Given the description of an element on the screen output the (x, y) to click on. 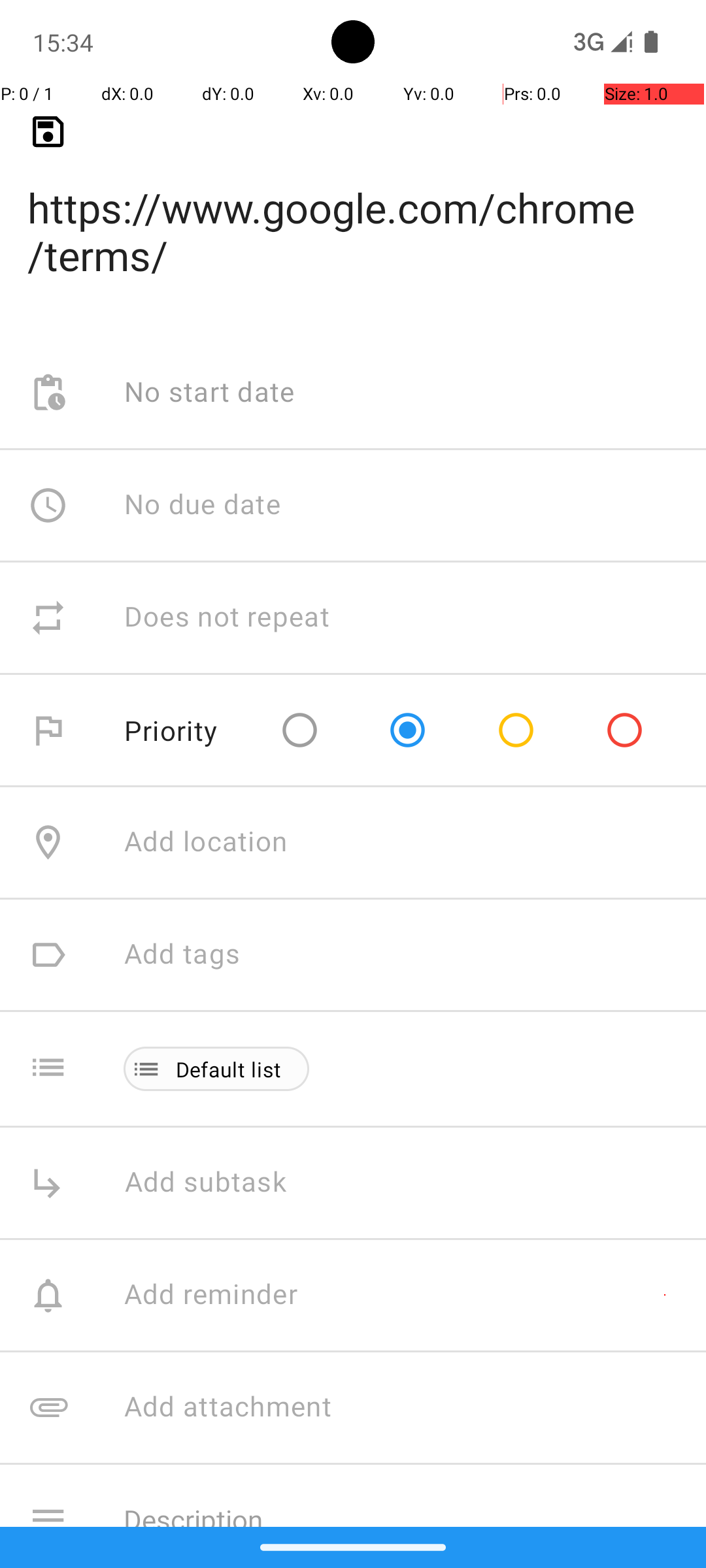
https://www.google.com/chrome/terms/ Element type: android.widget.EditText (353, 210)
Save Element type: android.widget.ImageButton (48, 131)
No due date Element type: android.widget.TextView (202, 504)
Priority Element type: android.widget.TextView (170, 729)
Default list Element type: android.widget.TextView (228, 1069)
Description Element type: android.widget.EditText (400, 1504)
No start date Element type: android.widget.TextView (209, 392)
Does not repeat Element type: android.widget.TextView (226, 617)
Add location Element type: android.widget.TextView (205, 842)
Add tags Element type: android.widget.TextView (182, 954)
Add subtask Element type: android.widget.TextView (219, 1182)
Add reminder Element type: android.widget.TextView (224, 1295)
Add attachment Element type: android.widget.TextView (414, 1407)
